Given the description of an element on the screen output the (x, y) to click on. 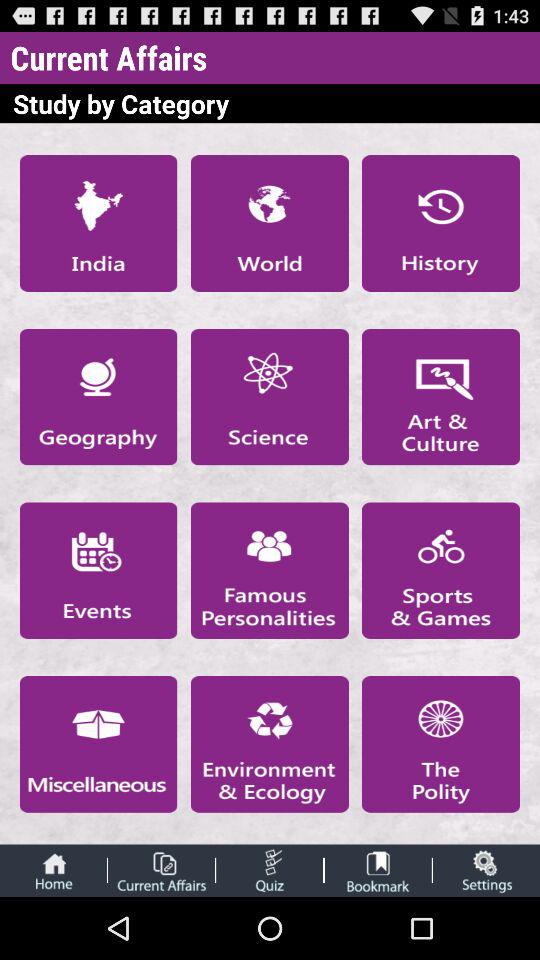
world current events section (269, 223)
